Given the description of an element on the screen output the (x, y) to click on. 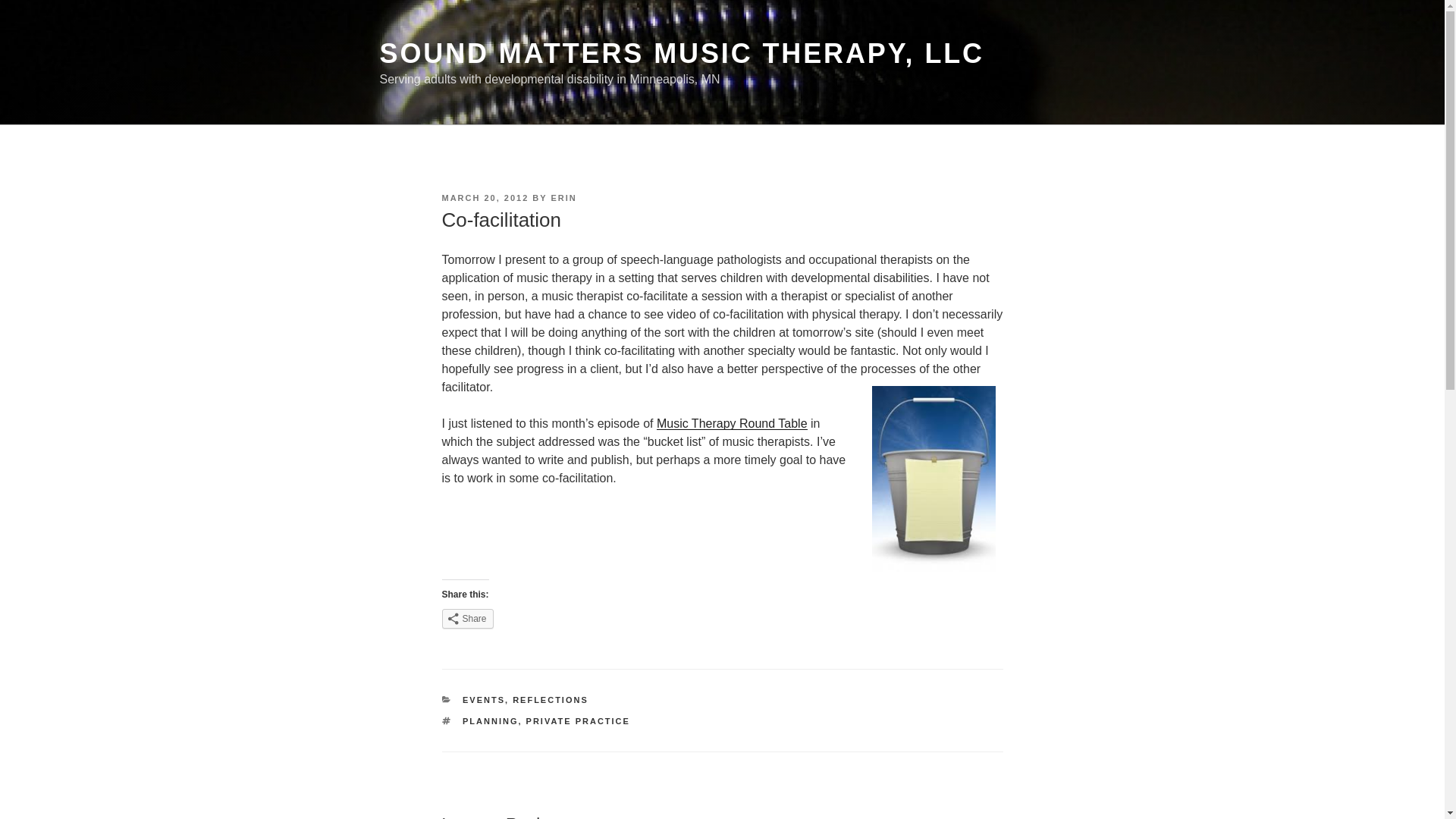
EVENTS (484, 699)
ERIN (563, 197)
SOUND MATTERS MUSIC THERAPY, LLC (681, 52)
Share (467, 618)
PRIVATE PRACTICE (577, 720)
PLANNING (490, 720)
Music Therapy Round Table (732, 422)
MARCH 20, 2012 (484, 197)
REFLECTIONS (550, 699)
